Given the description of an element on the screen output the (x, y) to click on. 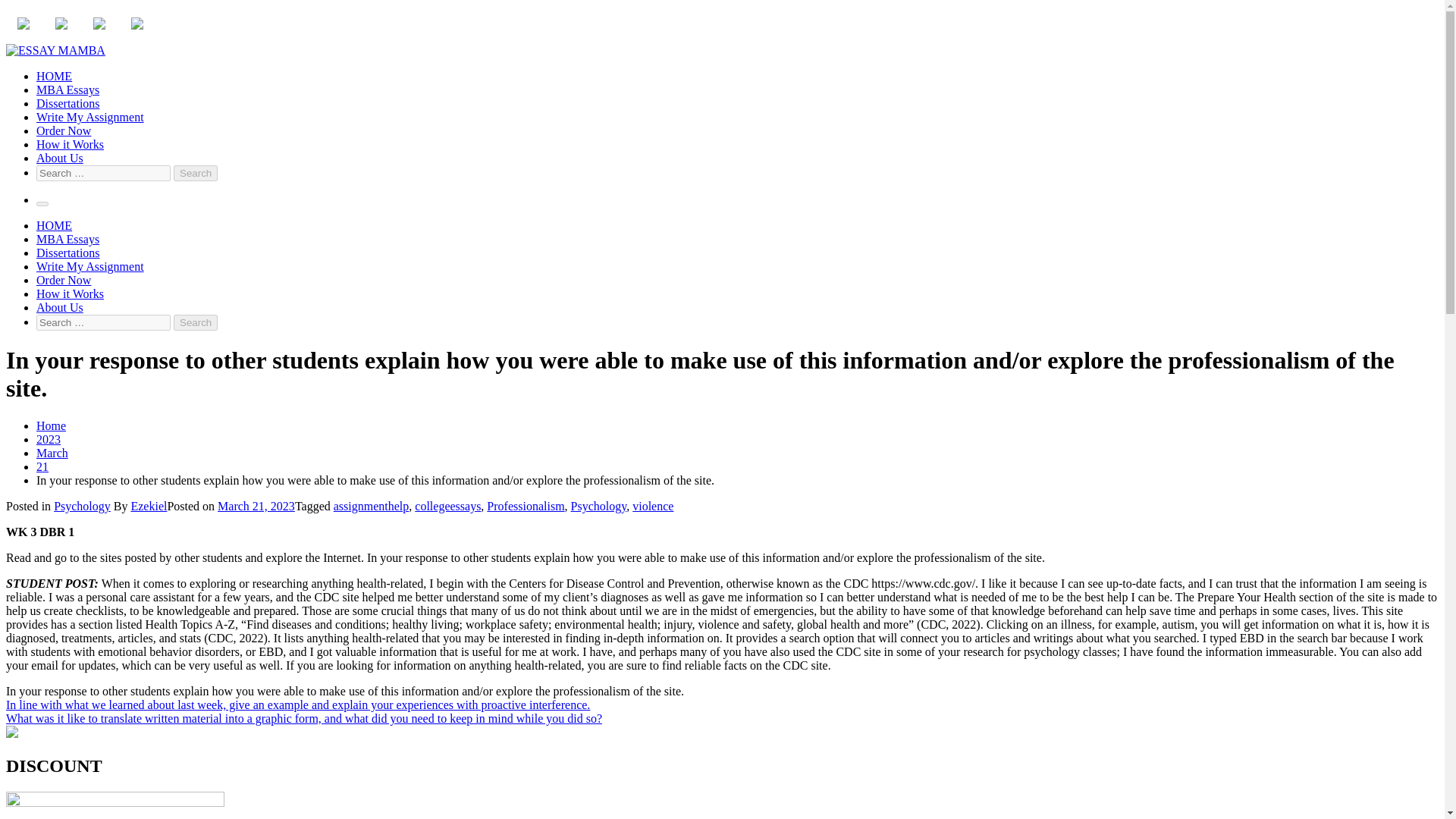
HOME (53, 75)
21 (42, 466)
Search (194, 322)
Write My Assignment (90, 116)
About Us (59, 307)
Search (194, 322)
Psychology (598, 505)
MBA Essays (67, 89)
Dissertations (68, 252)
Write My Assignment (90, 266)
assignmenthelp (371, 505)
2023 (48, 439)
Ezekiel (149, 505)
Psychology (81, 505)
